Given the description of an element on the screen output the (x, y) to click on. 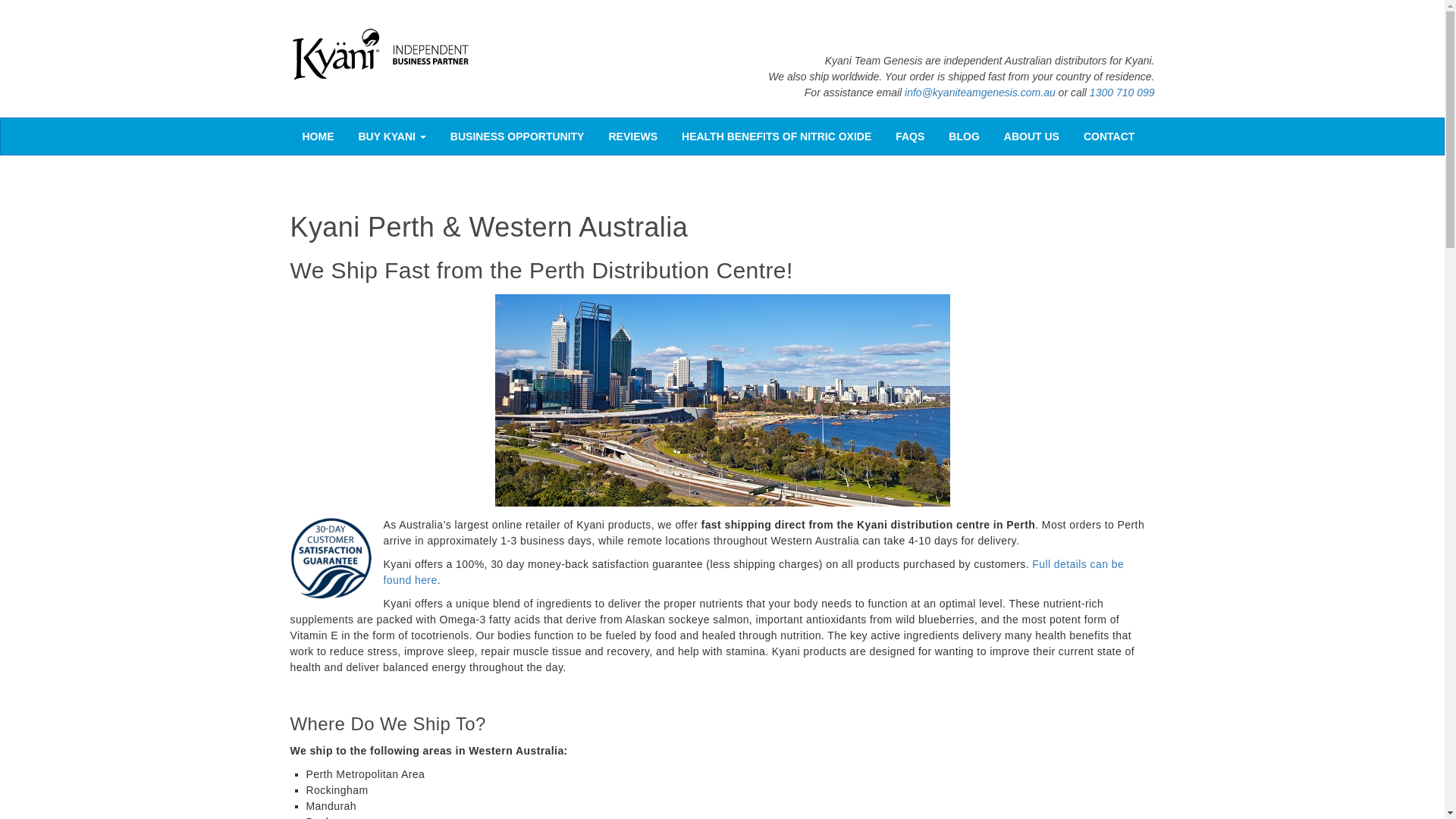
ABOUT US Element type: text (1031, 136)
BUSINESS OPPORTUNITY Element type: text (517, 136)
HEALTH BENEFITS OF NITRIC OXIDE Element type: text (776, 136)
BLOG Element type: text (963, 136)
CONTACT Element type: text (1108, 136)
Full details can be found here Element type: text (753, 572)
REVIEWS Element type: text (632, 136)
BUY KYANI Element type: text (392, 136)
info@kyaniteamgenesis.com.au Element type: text (979, 92)
HOME Element type: text (318, 136)
1300 710 099 Element type: text (1121, 92)
FAQS Element type: text (909, 136)
